Given the description of an element on the screen output the (x, y) to click on. 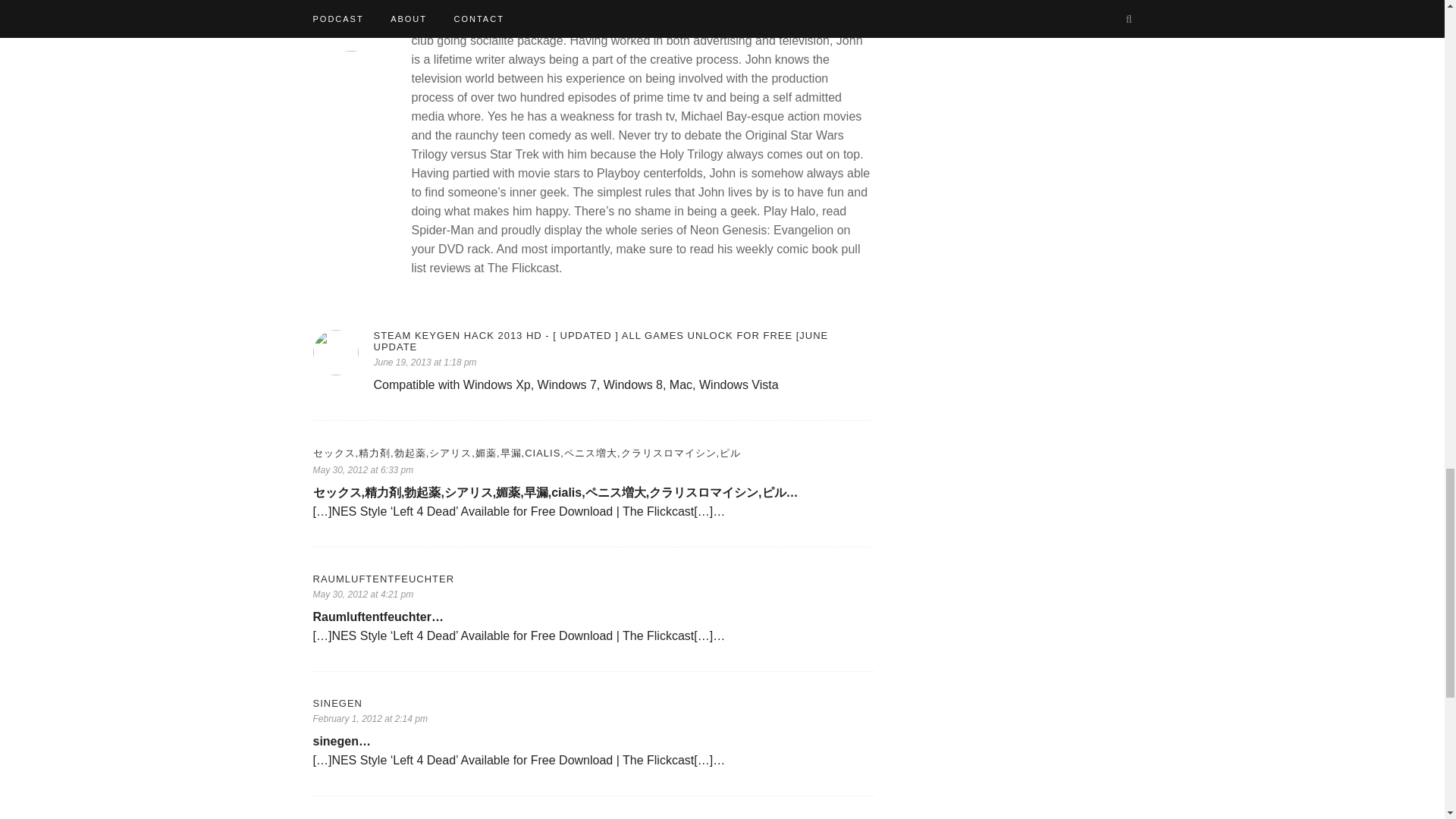
RAUMLUFTENTFEUCHTER (593, 578)
SINEGEN (593, 703)
